Given the description of an element on the screen output the (x, y) to click on. 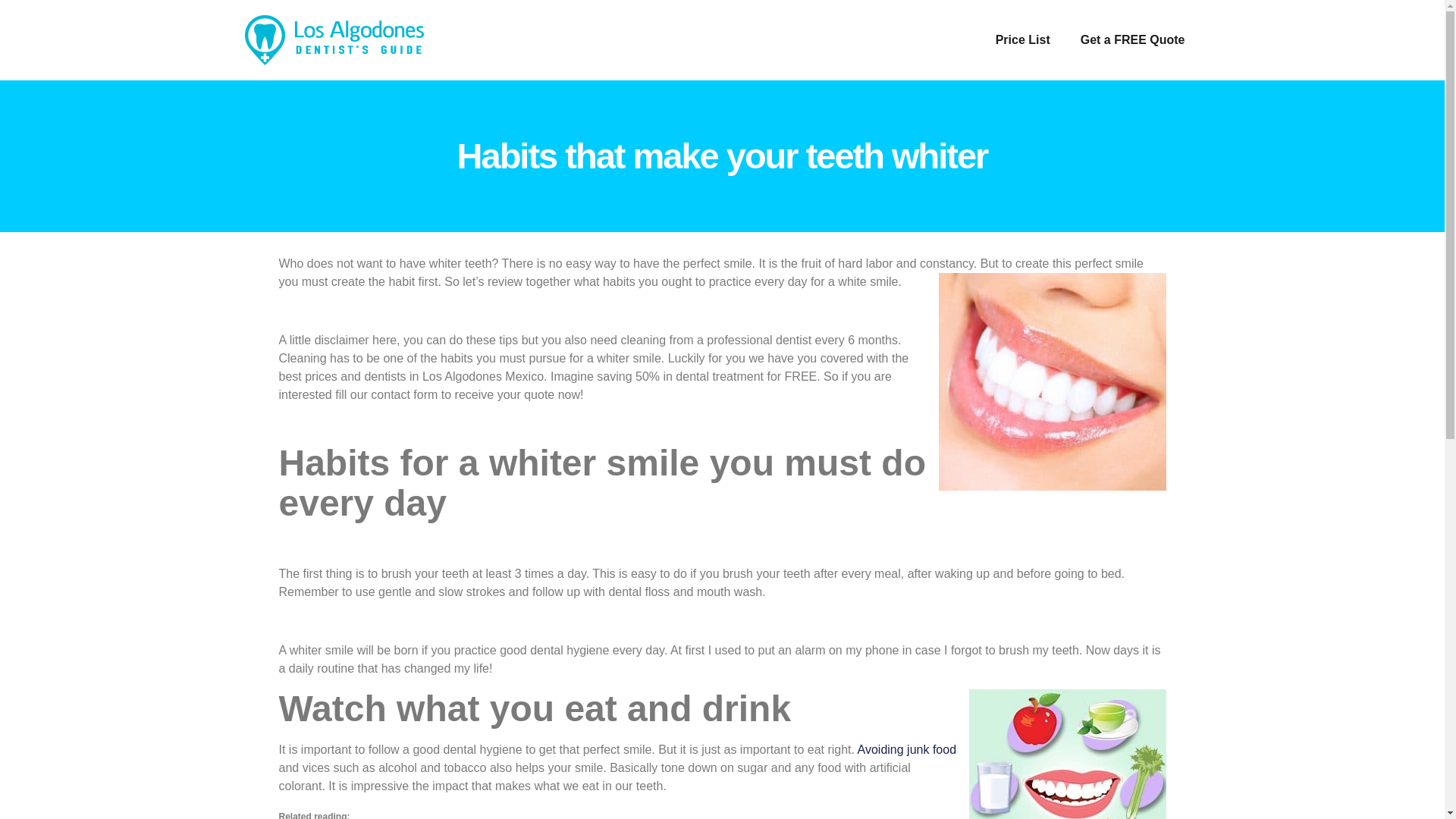
Get a FREE Quote (1132, 39)
Price List (1022, 39)
Avoiding junk food (906, 748)
